Given the description of an element on the screen output the (x, y) to click on. 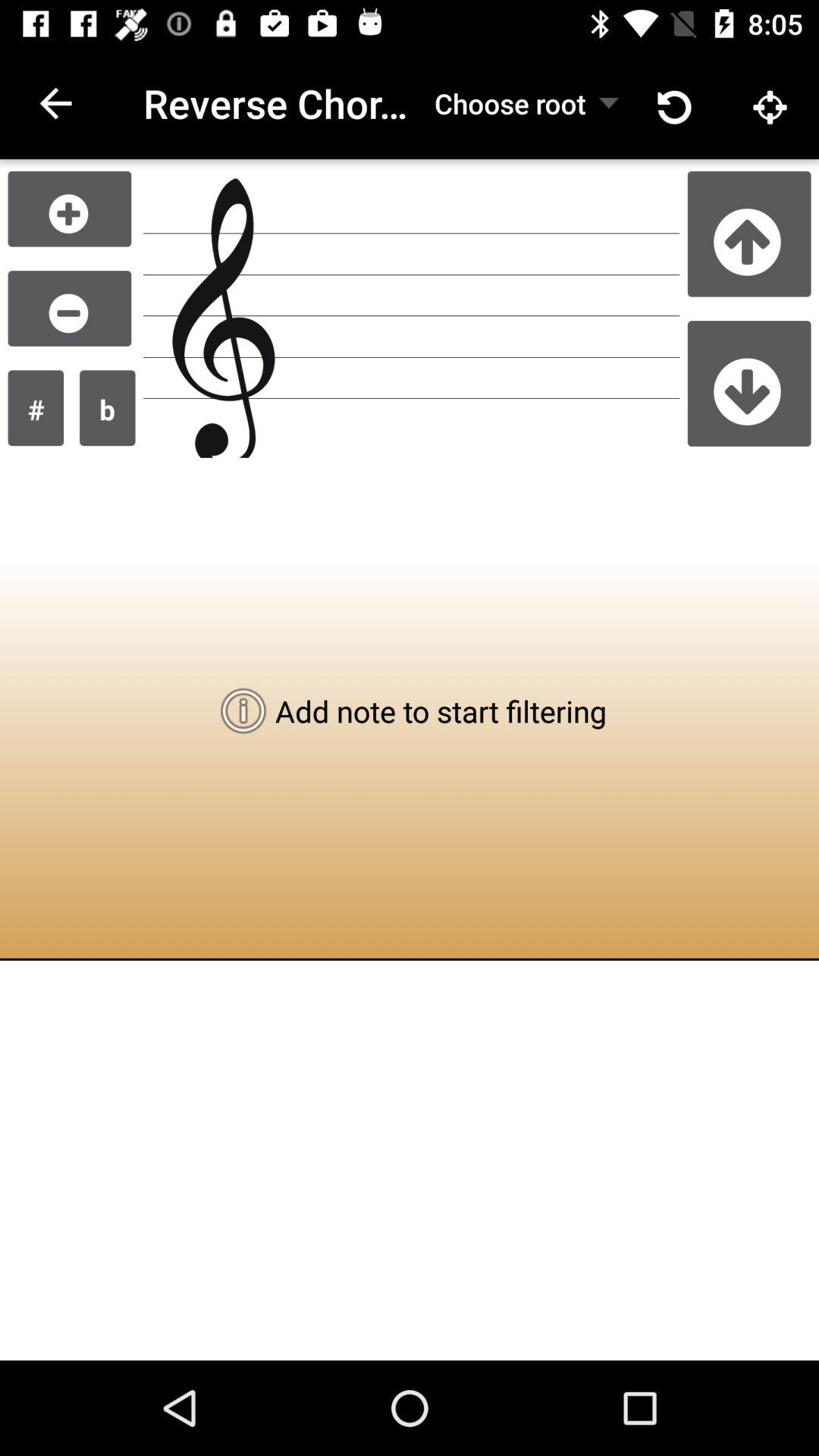
choose next song (749, 382)
